Given the description of an element on the screen output the (x, y) to click on. 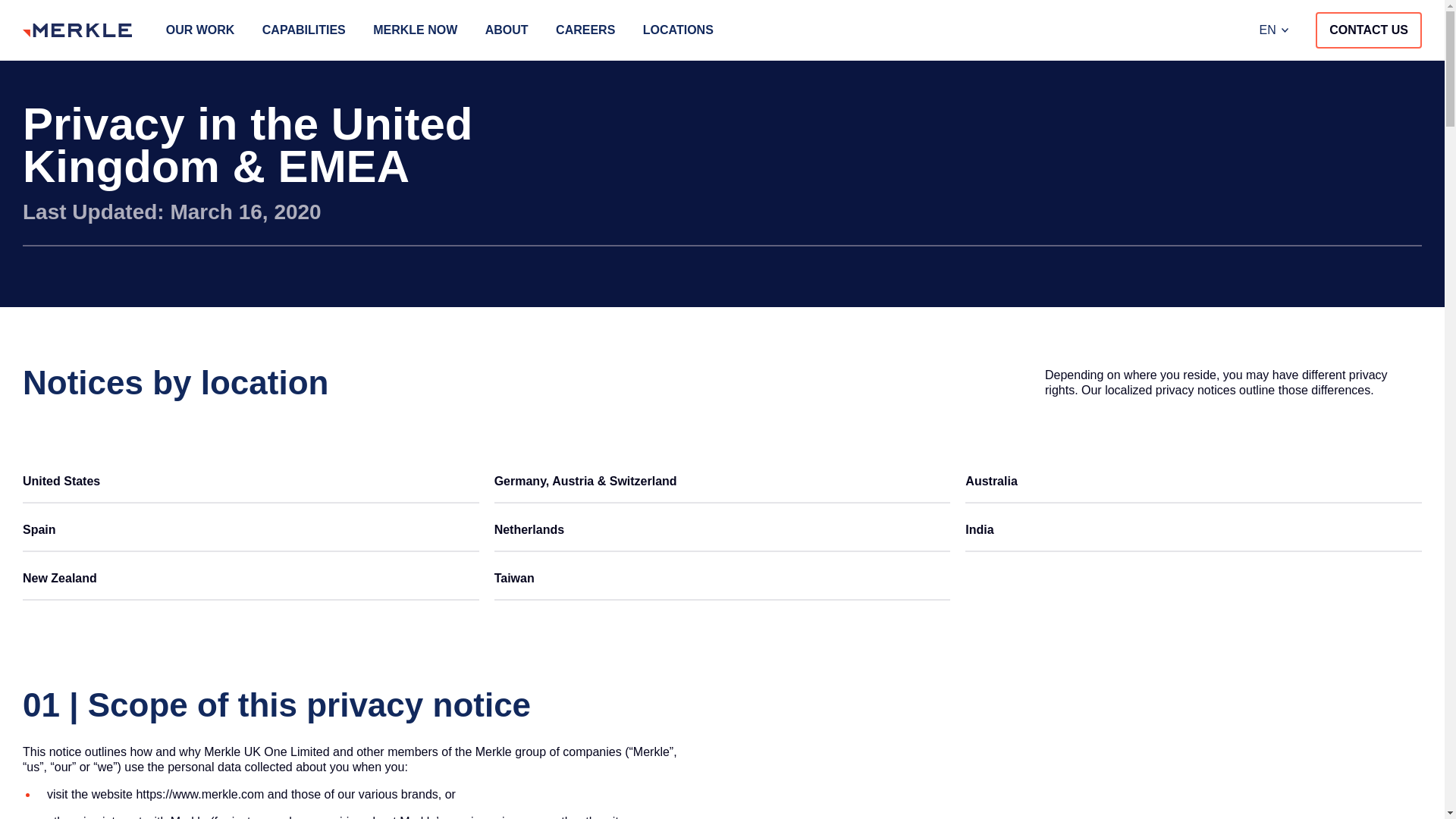
OUR WORK (199, 30)
merkle-full-logo-lt.svg (77, 29)
MERKLE NOW (414, 30)
CAPABILITIES (304, 30)
ABOUT (506, 30)
CAREERS (585, 30)
LOCATIONS (678, 30)
